Given the description of an element on the screen output the (x, y) to click on. 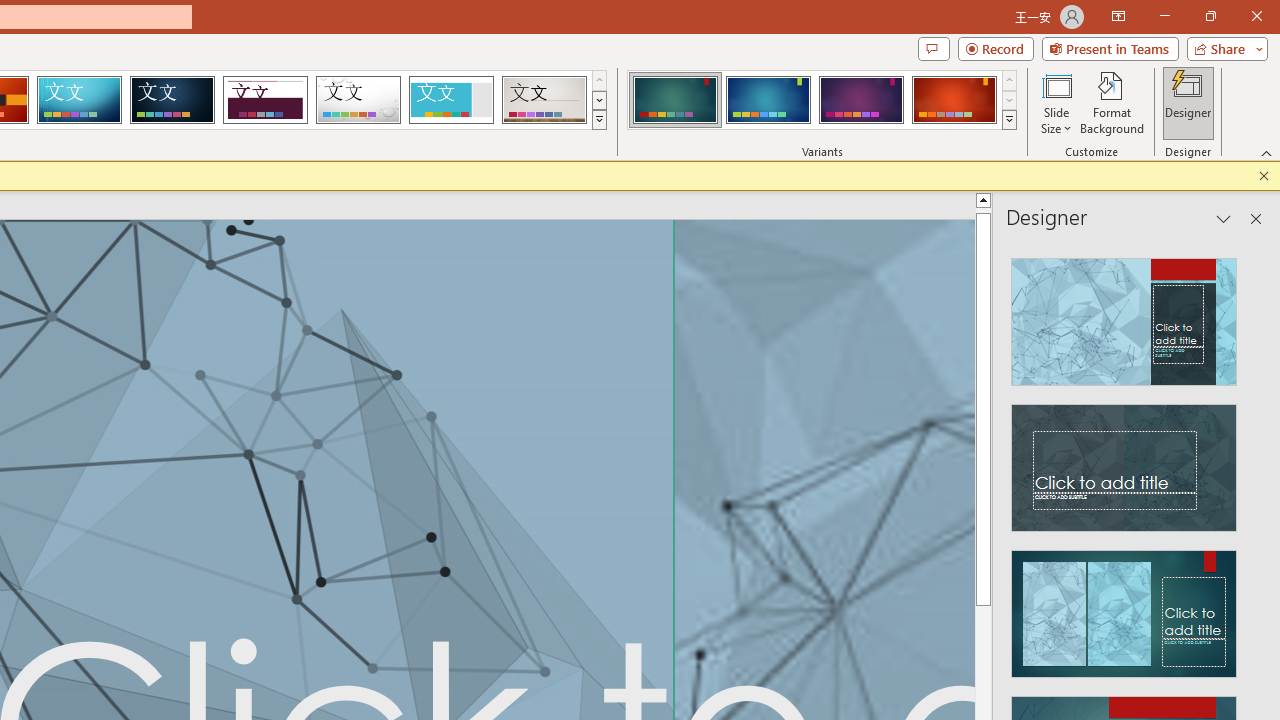
Designer (1188, 102)
AutomationID: ThemeVariantsGallery (822, 99)
Close (1256, 16)
Slide Size (1056, 102)
Recommended Design: Design Idea (1124, 315)
Row up (1009, 79)
Close pane (1256, 219)
Variants (1009, 120)
Collapse the Ribbon (1267, 152)
Design Idea (1124, 607)
Restore Down (1210, 16)
Comments (933, 48)
Droplet (358, 100)
Ion Variant 2 (768, 100)
Close this message (1263, 176)
